Given the description of an element on the screen output the (x, y) to click on. 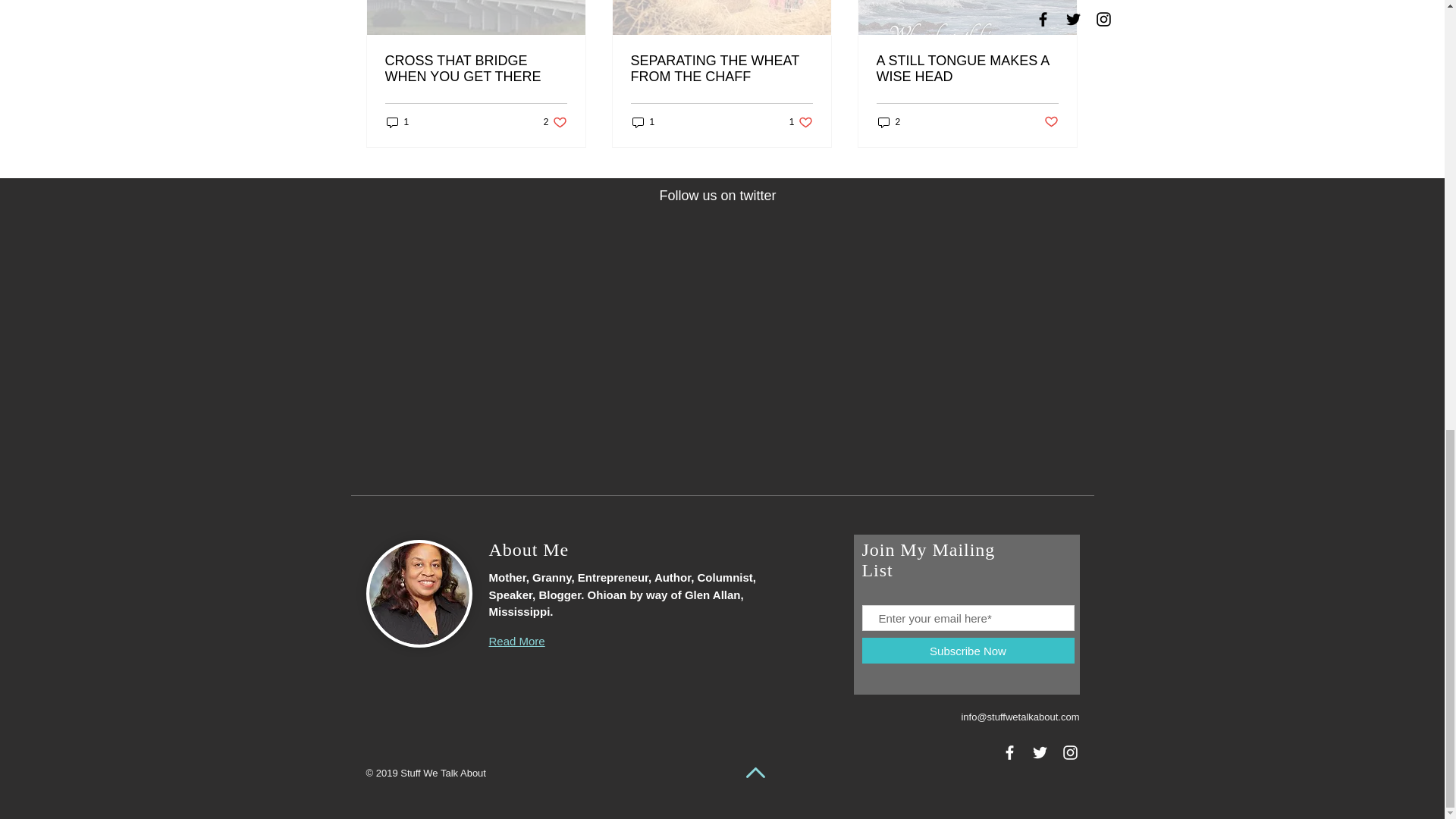
1 (643, 121)
2 (889, 121)
CROSS THAT BRIDGE WHEN YOU GET THERE (476, 69)
A STILL TONGUE MAKES A WISE HEAD (555, 121)
SEPARATING THE WHEAT FROM THE CHAFF (967, 69)
1 (721, 69)
